Given the description of an element on the screen output the (x, y) to click on. 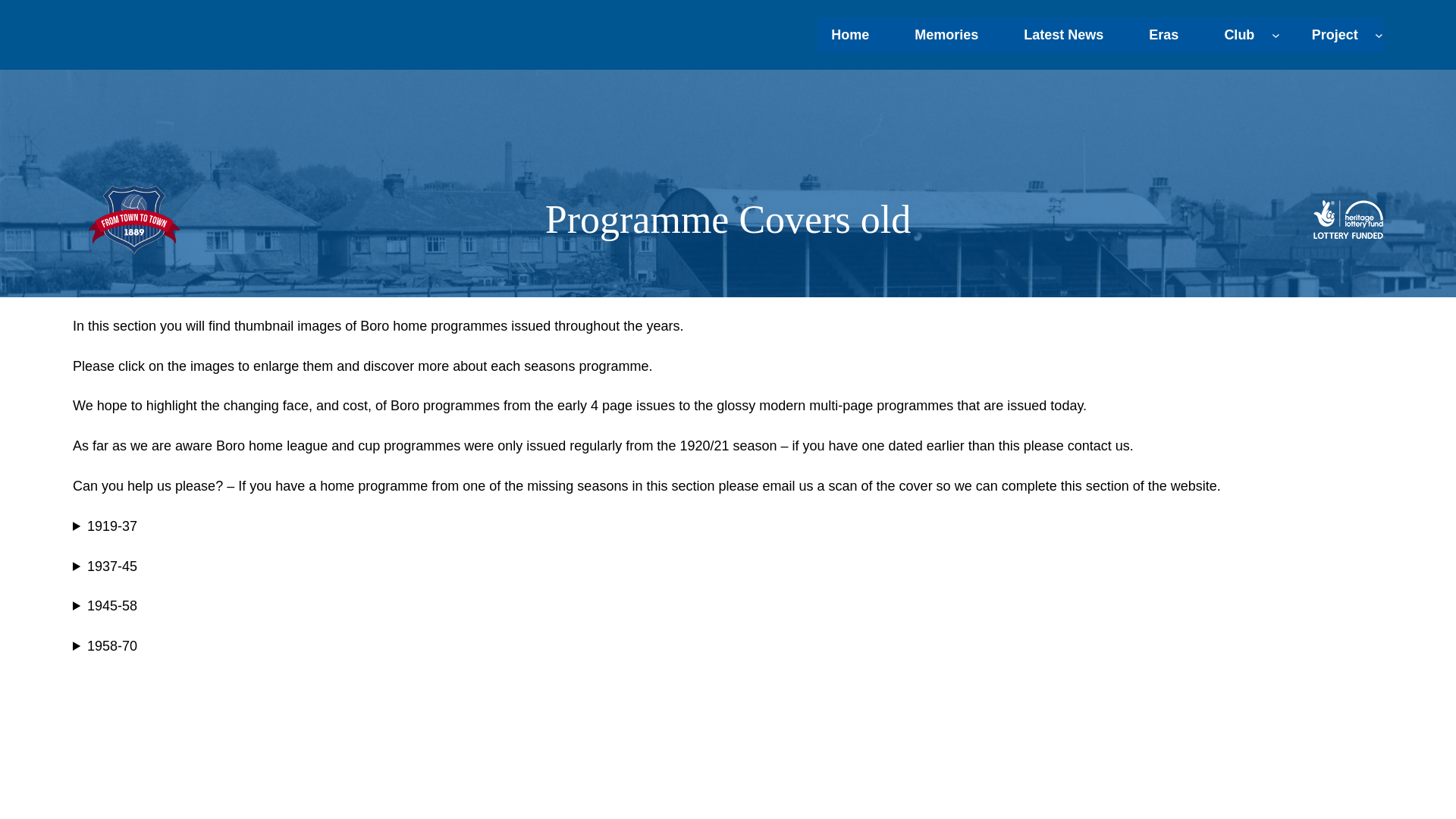
Eras (1163, 34)
Home (849, 34)
Latest News (1063, 34)
Memories (946, 34)
Club (1238, 34)
Project (1334, 34)
